Given the description of an element on the screen output the (x, y) to click on. 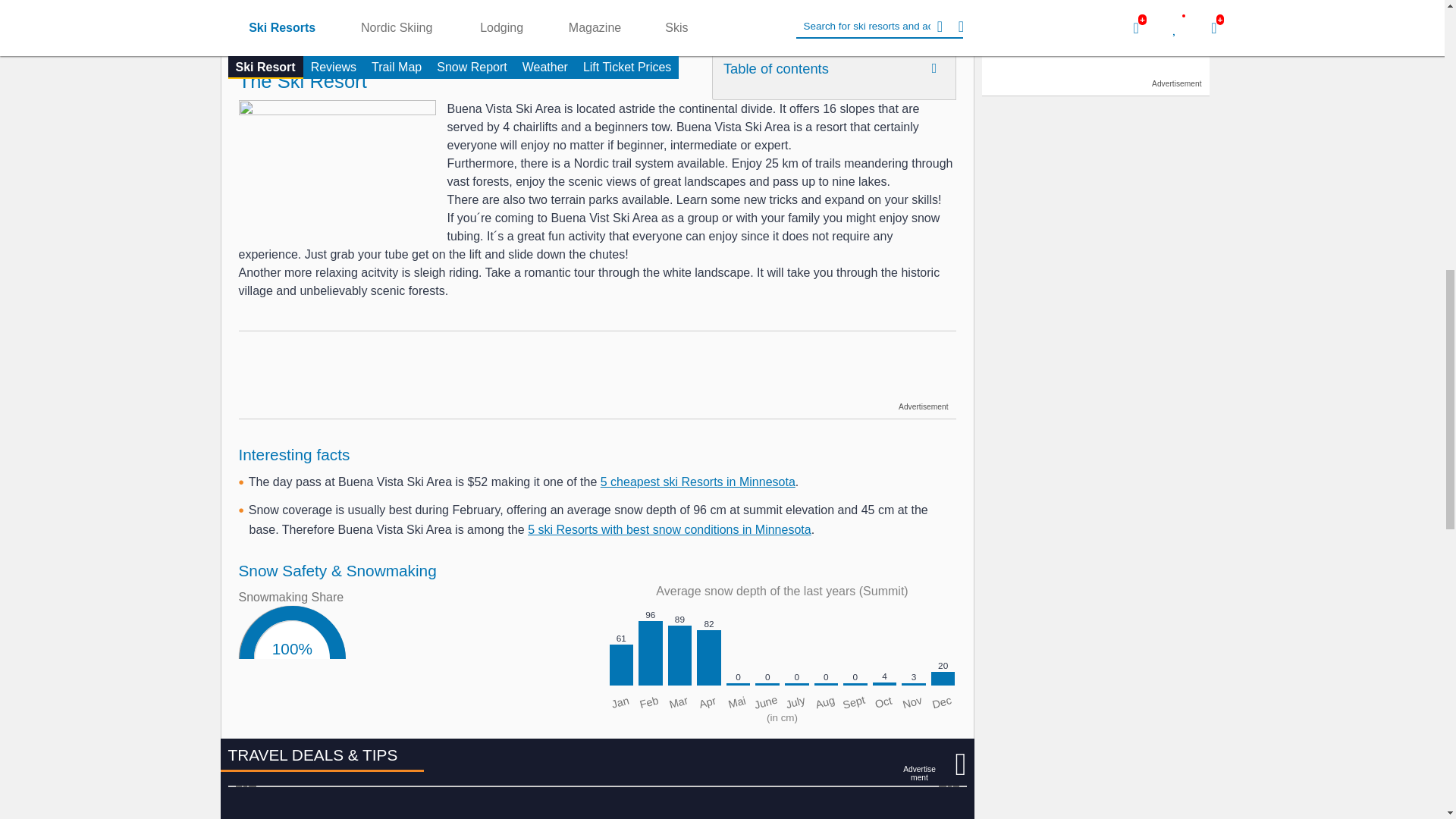
5 ski Resorts with best snow conditions in Minnesota (668, 529)
Table of contents (833, 71)
5 cheapest ski Resorts in Minnesota (696, 481)
Snowiest Ski Resorts in Minnesota  (668, 529)
Most affordable Ski Resorts in Minnesota  (696, 481)
